Given the description of an element on the screen output the (x, y) to click on. 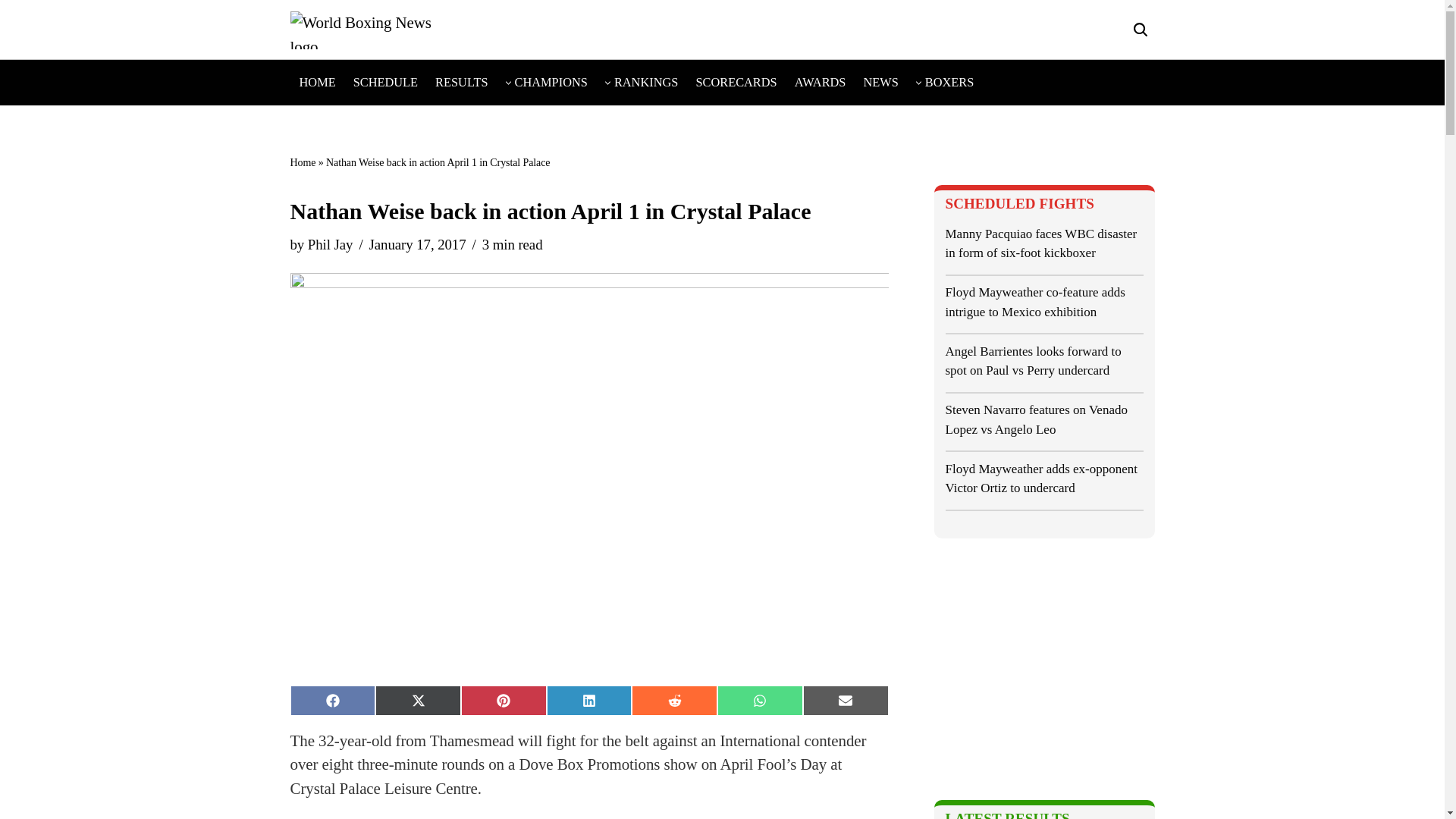
SCORECARDS (735, 81)
RANKINGS (646, 81)
Posts by Phil Jay (330, 244)
AWARDS (819, 81)
SCHEDULE (385, 81)
Skip to content (11, 31)
HOME (316, 81)
NEWS (880, 81)
CHAMPIONS (551, 81)
RESULTS (461, 81)
BOXERS (949, 81)
